Given the description of an element on the screen output the (x, y) to click on. 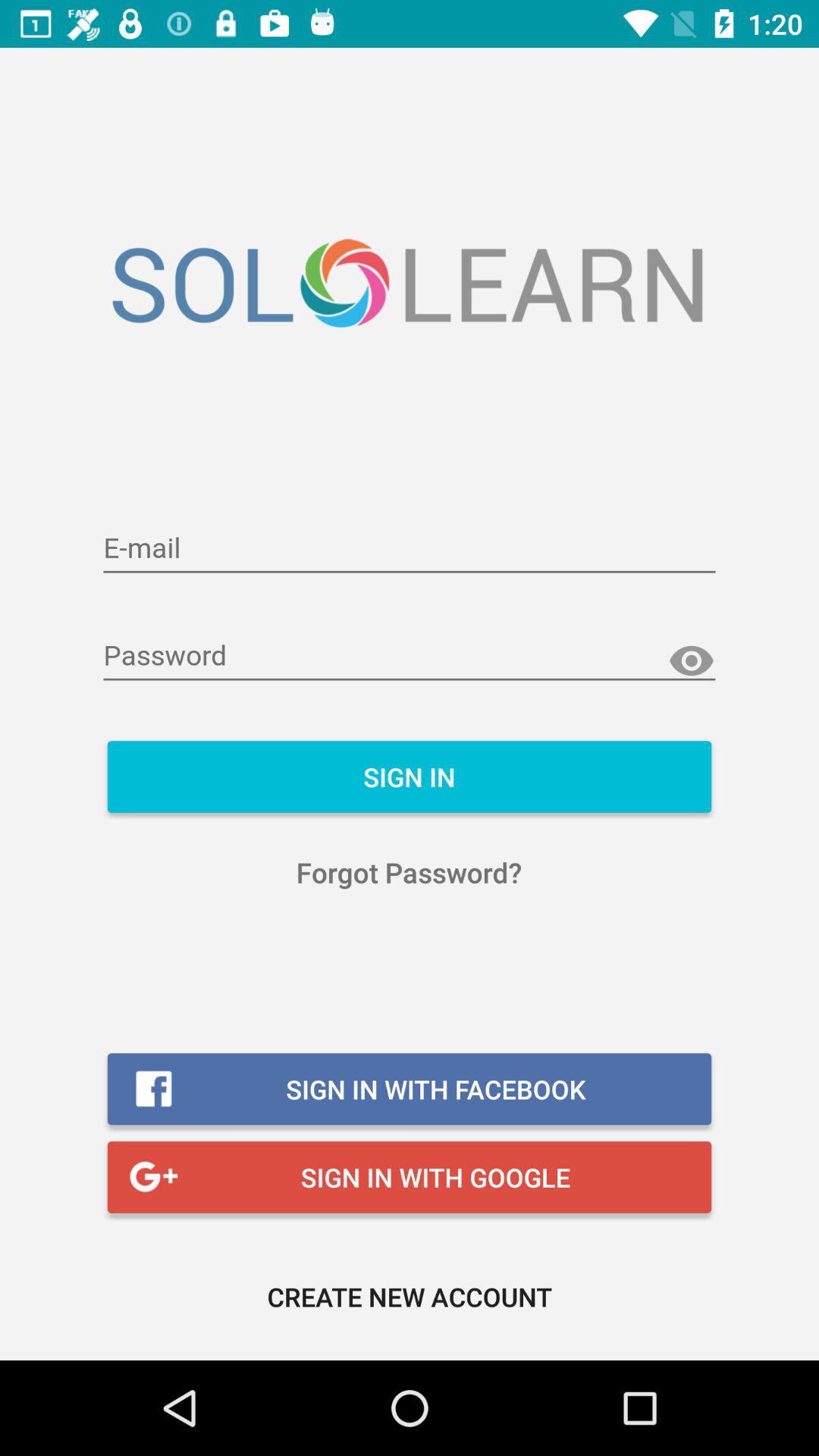
password (409, 656)
